Given the description of an element on the screen output the (x, y) to click on. 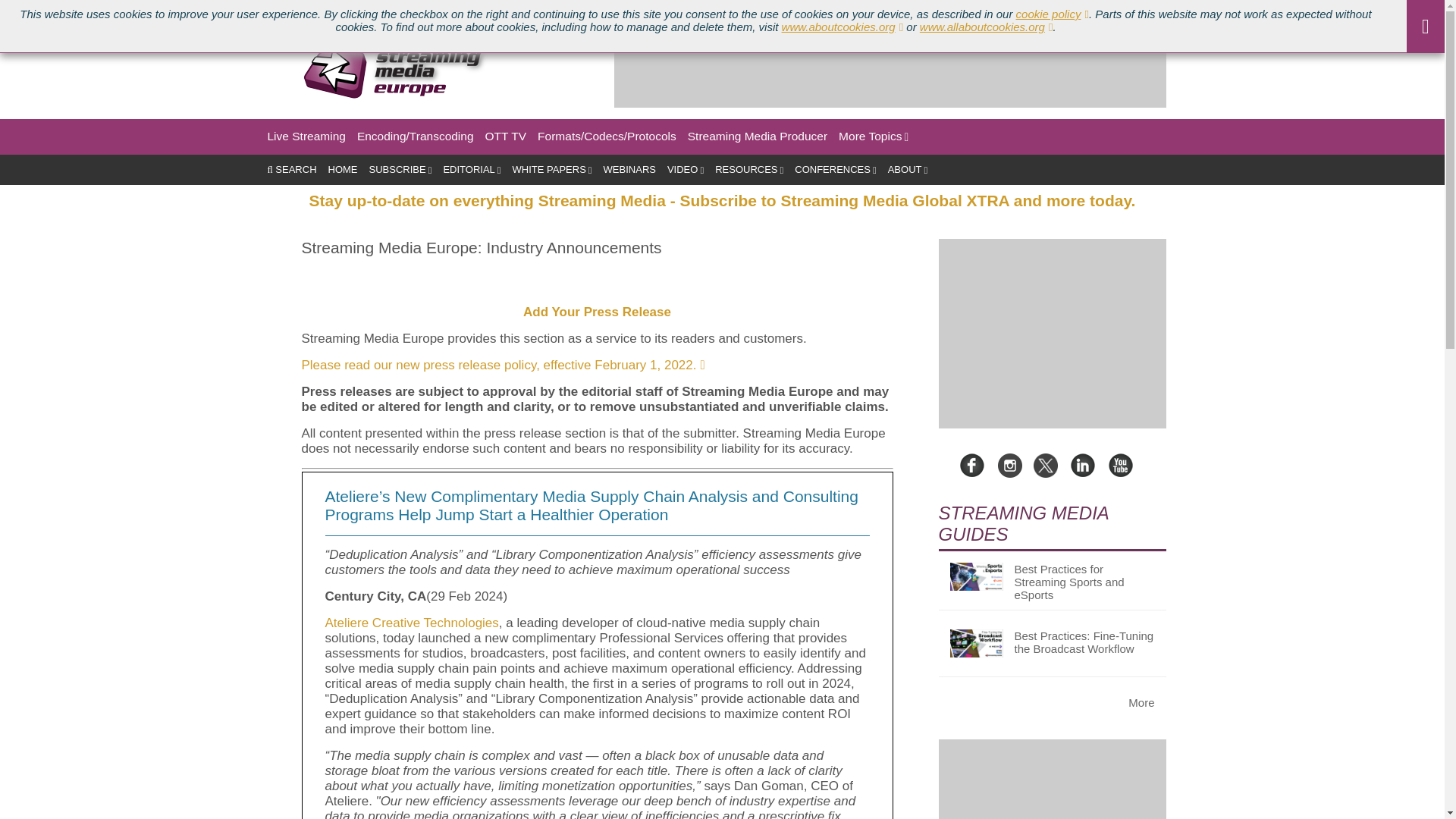
SOURCEBOOK (507, 10)
Streaming Media Producer (757, 136)
U.S. SITE (29, 10)
Streaming Media Producer (757, 136)
www.allaboutcookies.org (986, 26)
Streaming Media Connect 2024 (232, 10)
 SEARCH (290, 169)
PRODUCER (100, 10)
OTT TV (505, 136)
cookie policy (1052, 13)
